Given the description of an element on the screen output the (x, y) to click on. 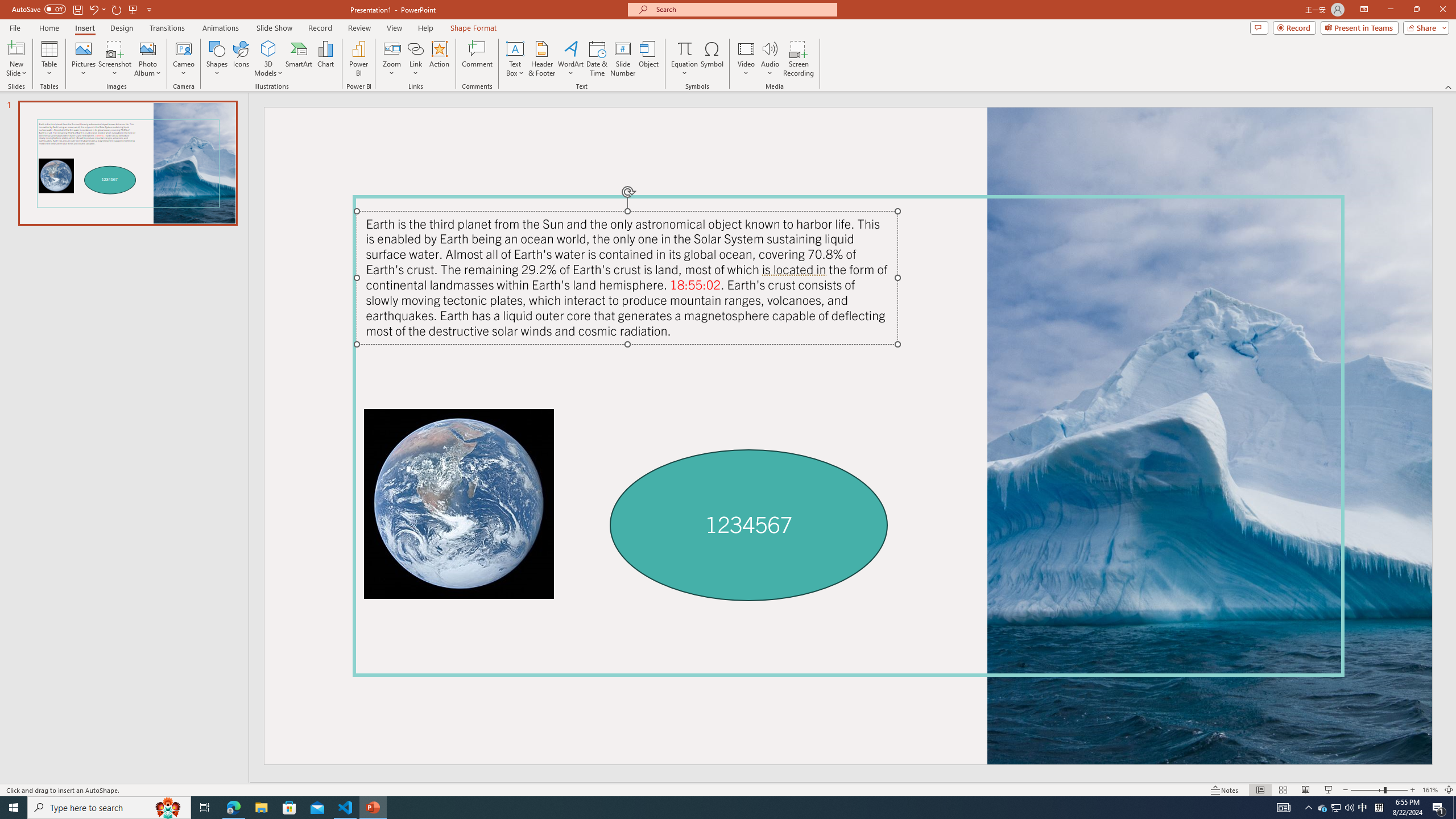
Zoom 161% (1430, 790)
Object... (649, 58)
Chart... (325, 58)
Icons (240, 58)
